Given the description of an element on the screen output the (x, y) to click on. 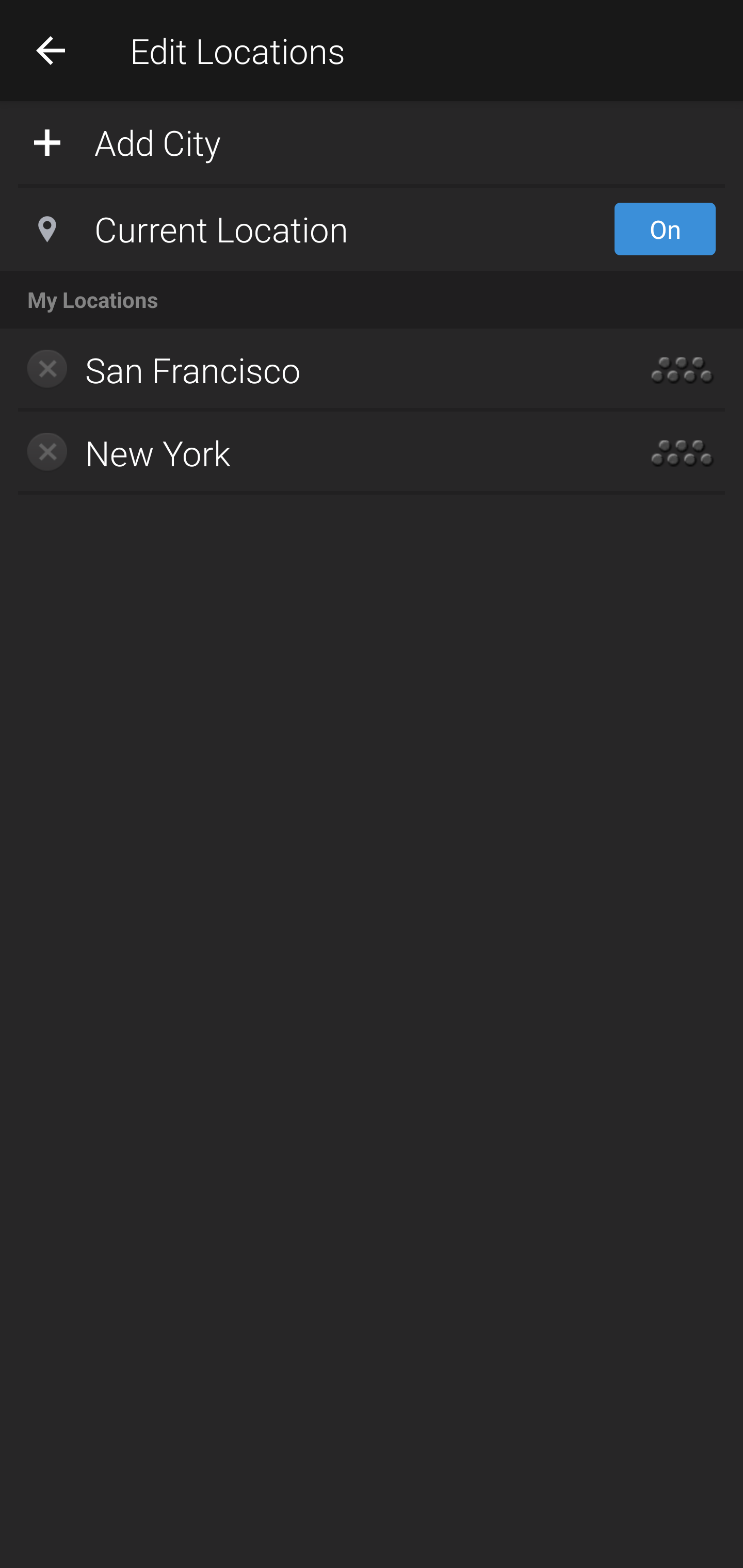
Navigate up (50, 50)
Add City (371, 141)
Current Location: On Current Location On (371, 229)
Delete: San Francisco San Francisco (311, 369)
Delete: New York New York (311, 452)
